Given the description of an element on the screen output the (x, y) to click on. 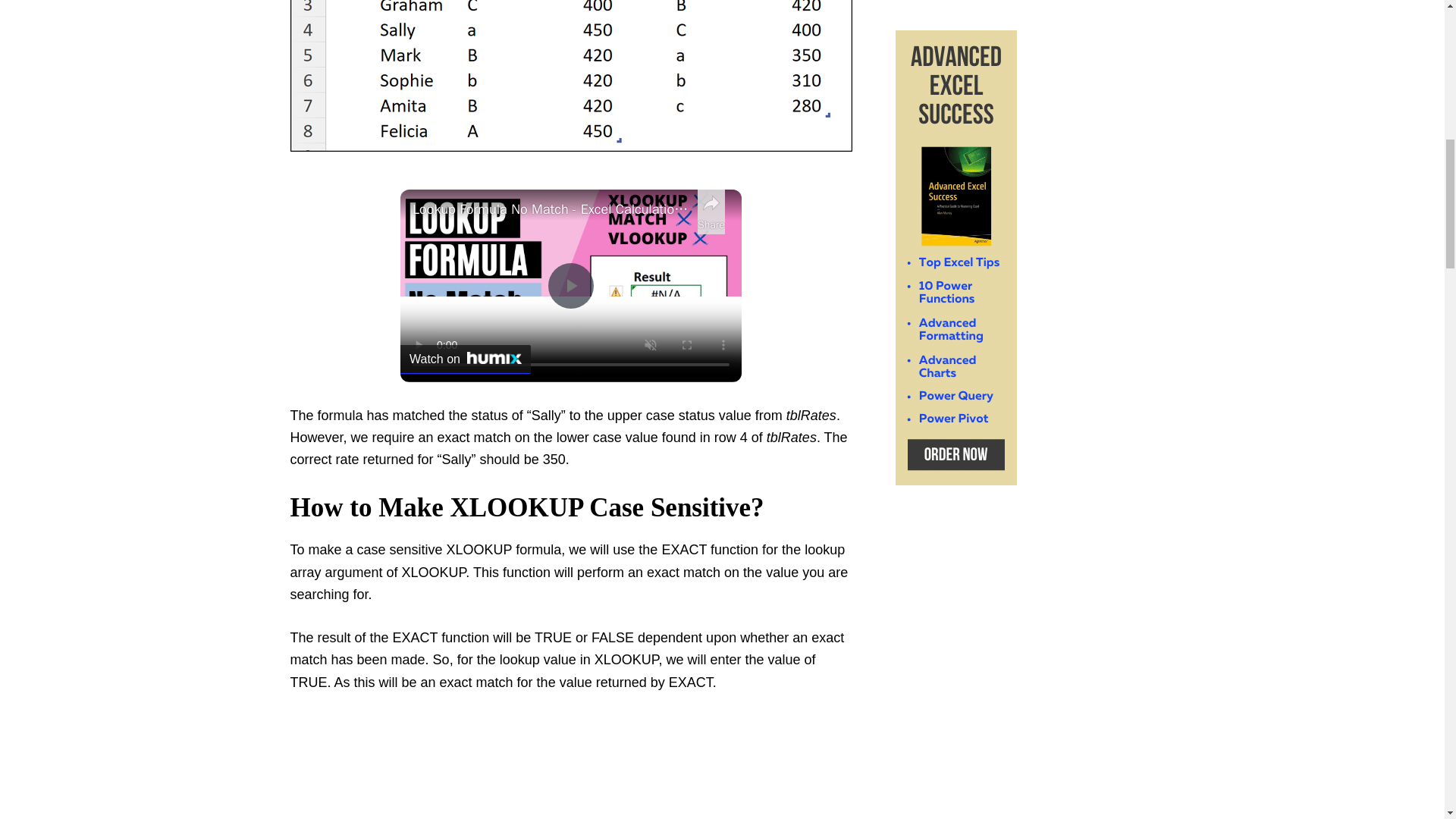
Watch on (465, 358)
Play Video (571, 285)
Play Video (571, 285)
Lookup Formula No Match - Excel Calculation Problem (551, 209)
